Given the description of an element on the screen output the (x, y) to click on. 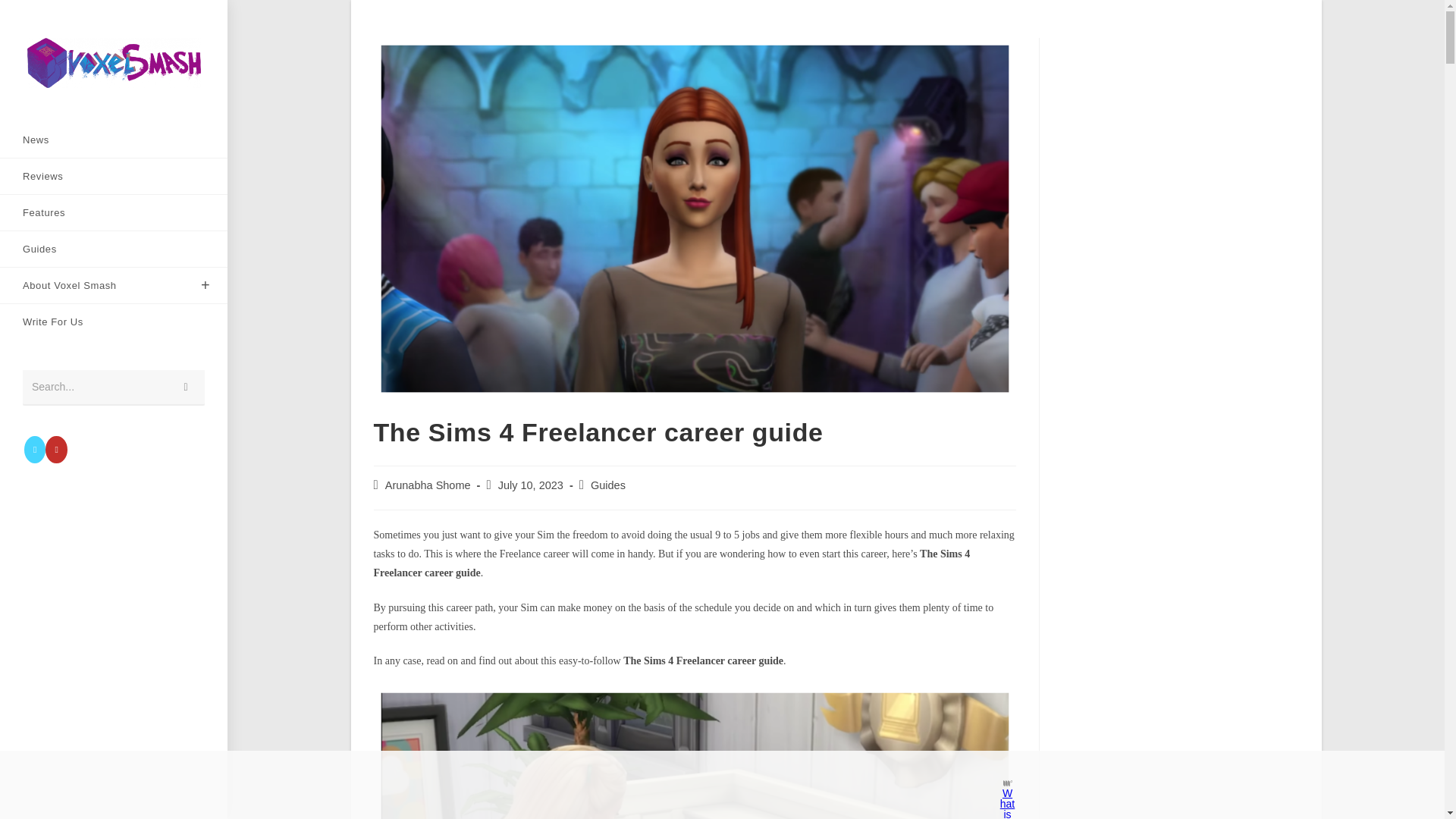
Reviews (113, 176)
Arunabha Shome (427, 485)
News (113, 140)
3rd party ad content (708, 785)
About Voxel Smash (113, 285)
Write For Us (113, 321)
Features (113, 212)
Posts by Arunabha Shome (427, 485)
Guides (113, 248)
Guides (608, 485)
Submit search (186, 387)
